Given the description of an element on the screen output the (x, y) to click on. 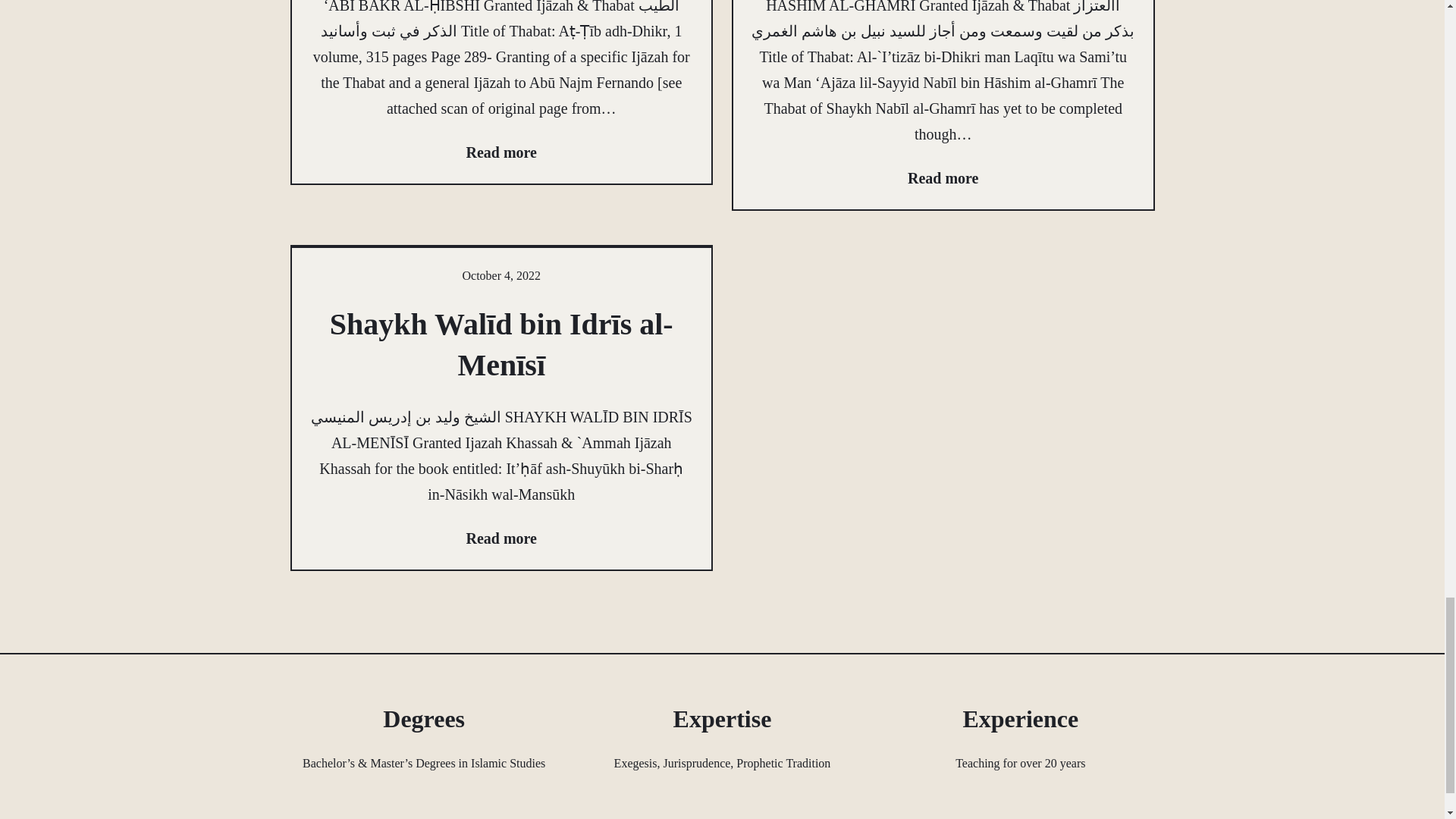
Read more (942, 177)
Read more (501, 152)
Read more (501, 538)
